Given the description of an element on the screen output the (x, y) to click on. 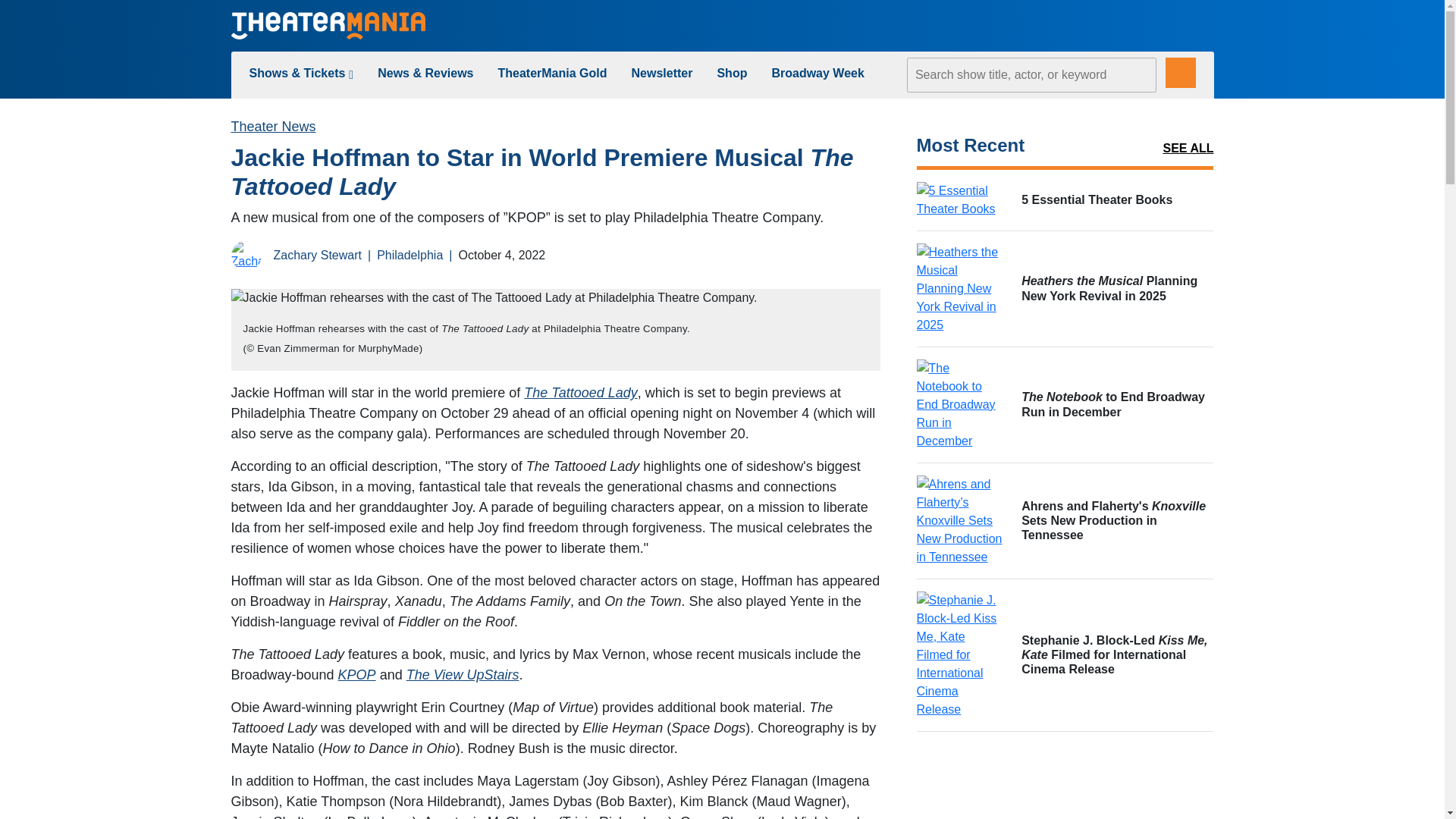
Newsletter (662, 72)
Broadway Week (817, 72)
TheaterMania Gold (552, 72)
Shop (731, 72)
new-and-reviews-link (425, 72)
